Given the description of an element on the screen output the (x, y) to click on. 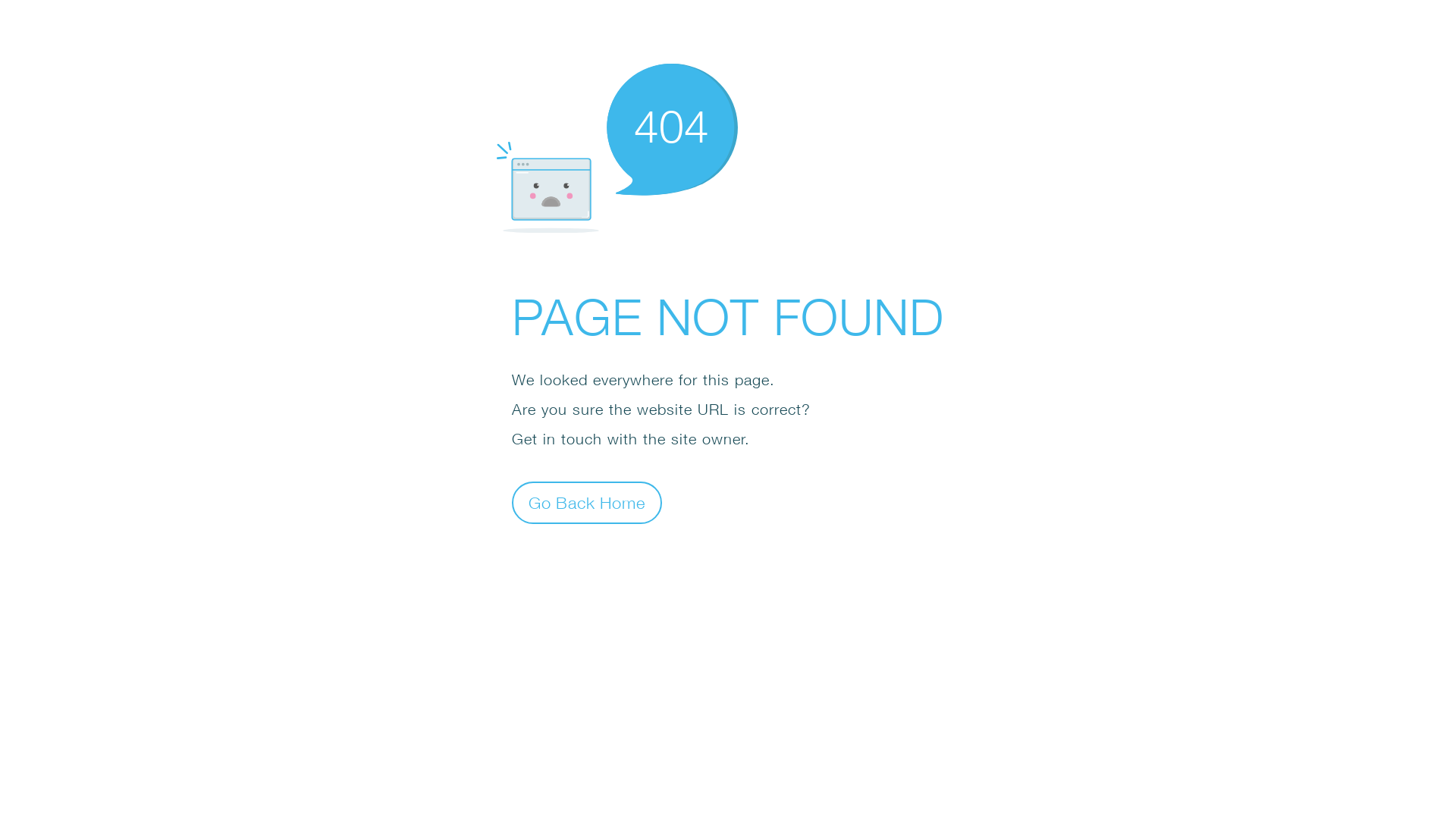
Go Back Home Element type: text (586, 502)
